Given the description of an element on the screen output the (x, y) to click on. 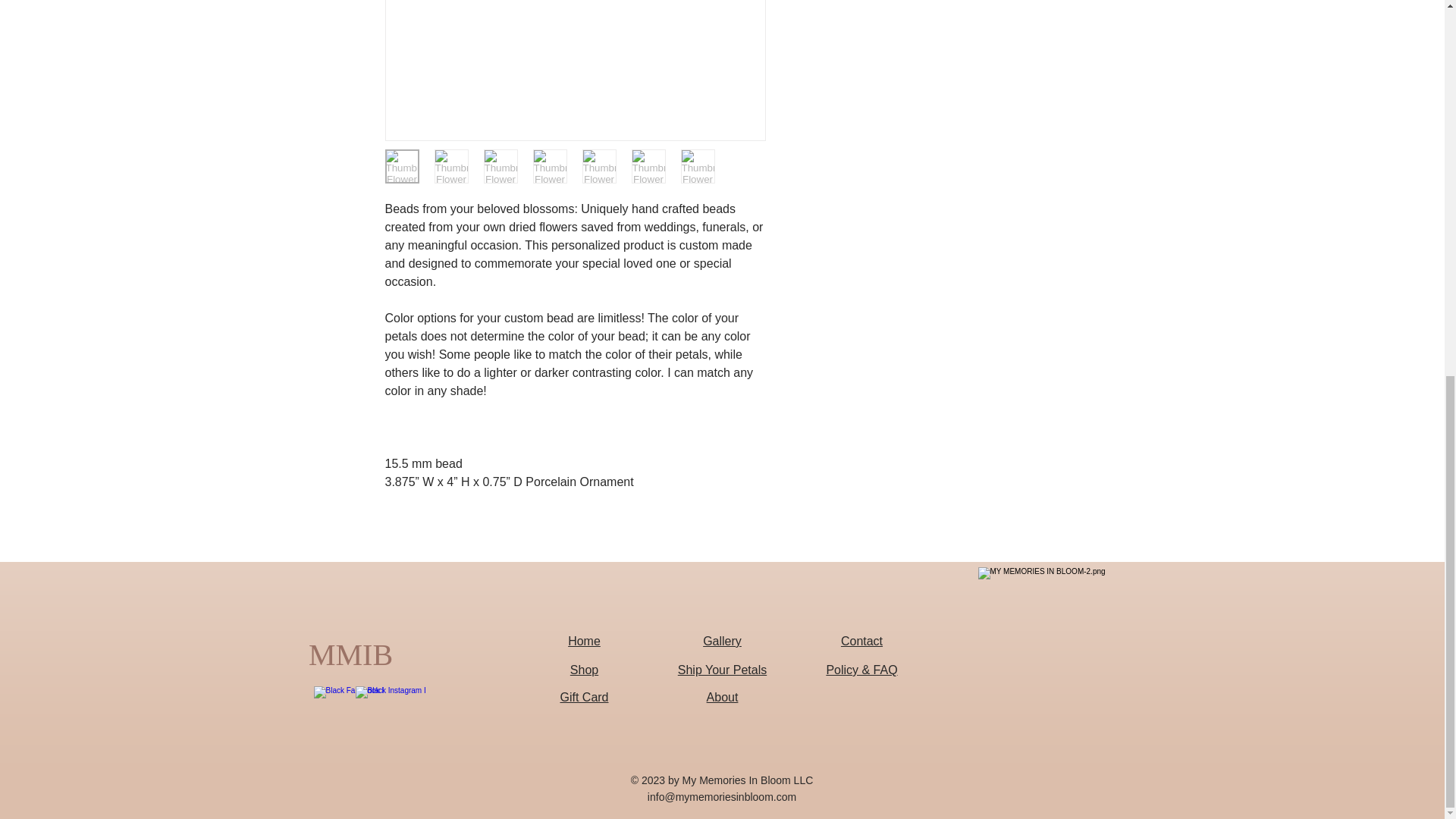
Gallery (722, 640)
My Memories in Bloom.png (1093, 682)
Ship Your Petals (722, 669)
About (722, 697)
Home (583, 640)
Shop (584, 669)
Gift Card (583, 697)
MMIB (351, 654)
